Given the description of an element on the screen output the (x, y) to click on. 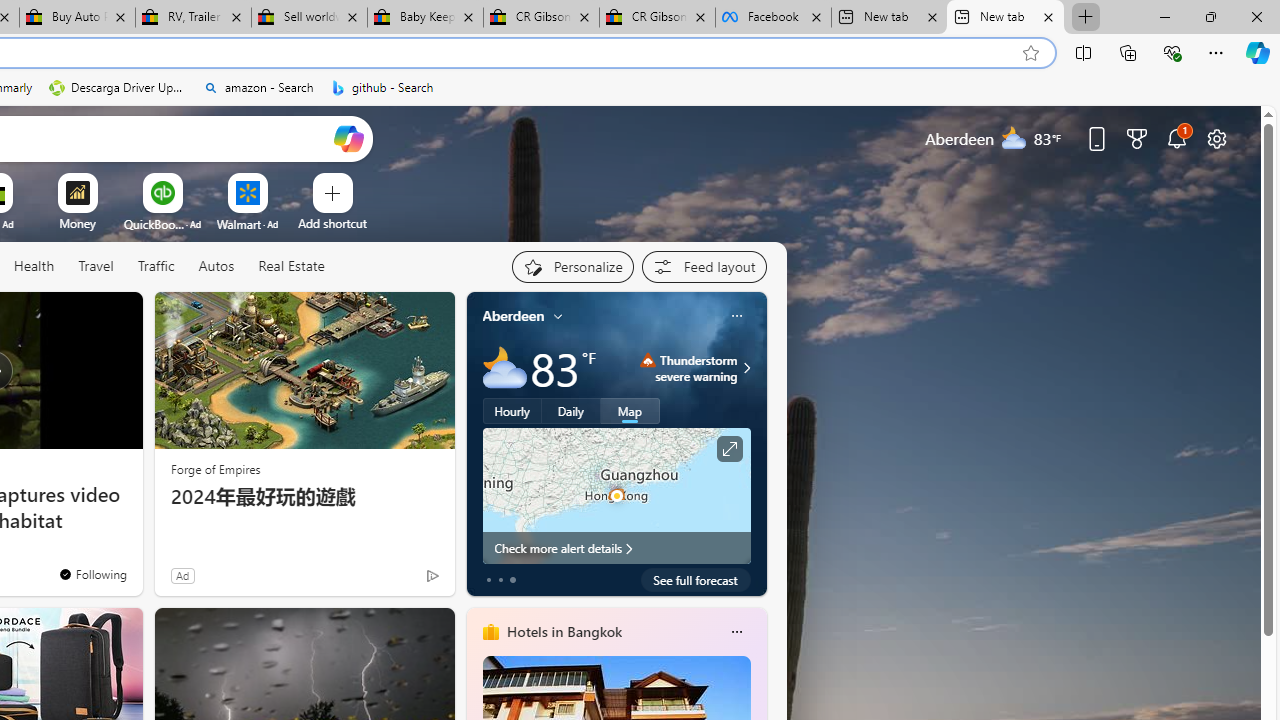
Click to see more information (728, 449)
Class: weather-arrow-glyph (746, 367)
You're following FOX News (92, 573)
Travel (95, 265)
Map (630, 411)
Health (34, 265)
Autos (216, 267)
Add a site (332, 223)
